Given the description of an element on the screen output the (x, y) to click on. 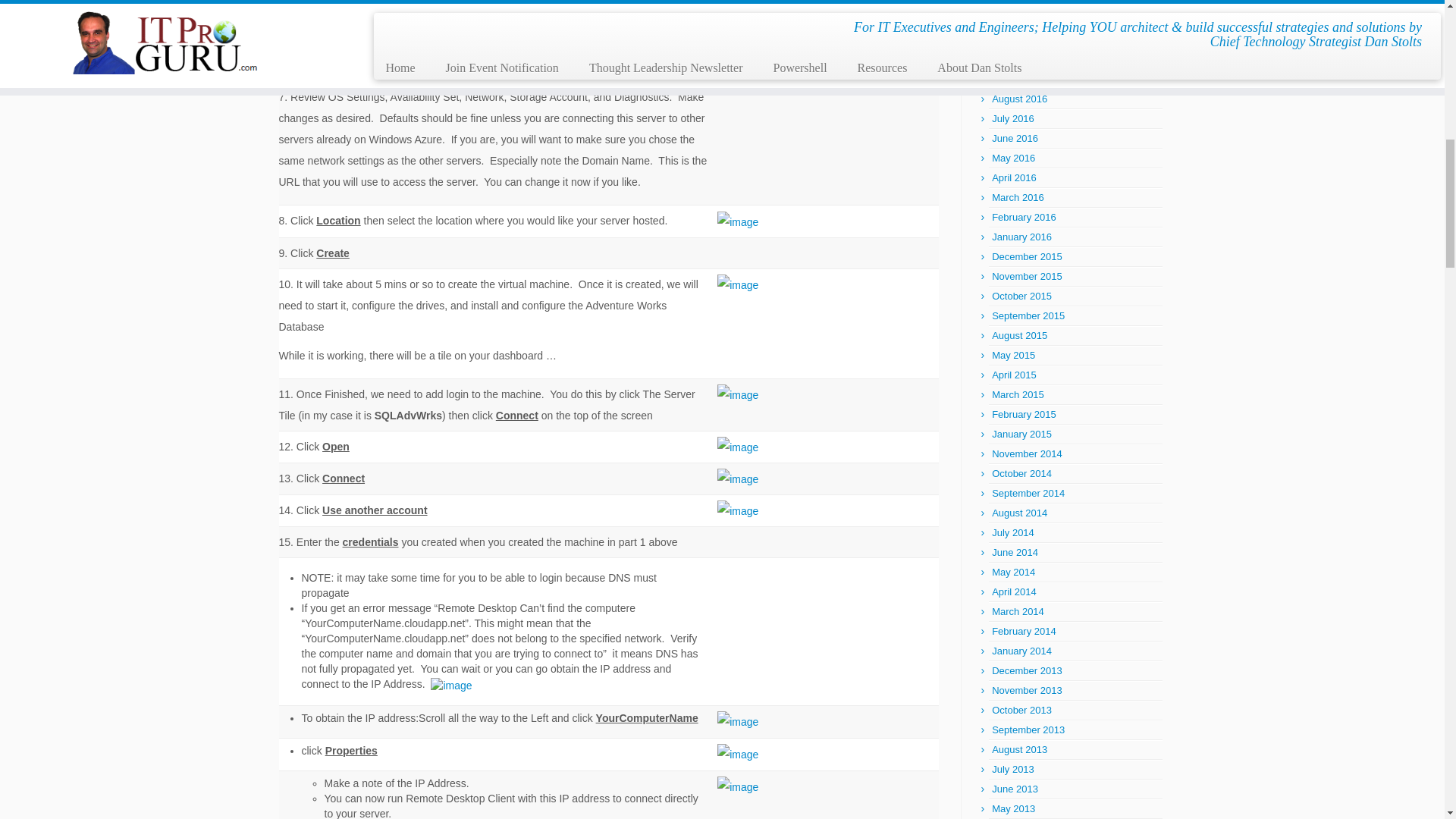
image (737, 3)
image (737, 284)
image (737, 221)
